Given the description of an element on the screen output the (x, y) to click on. 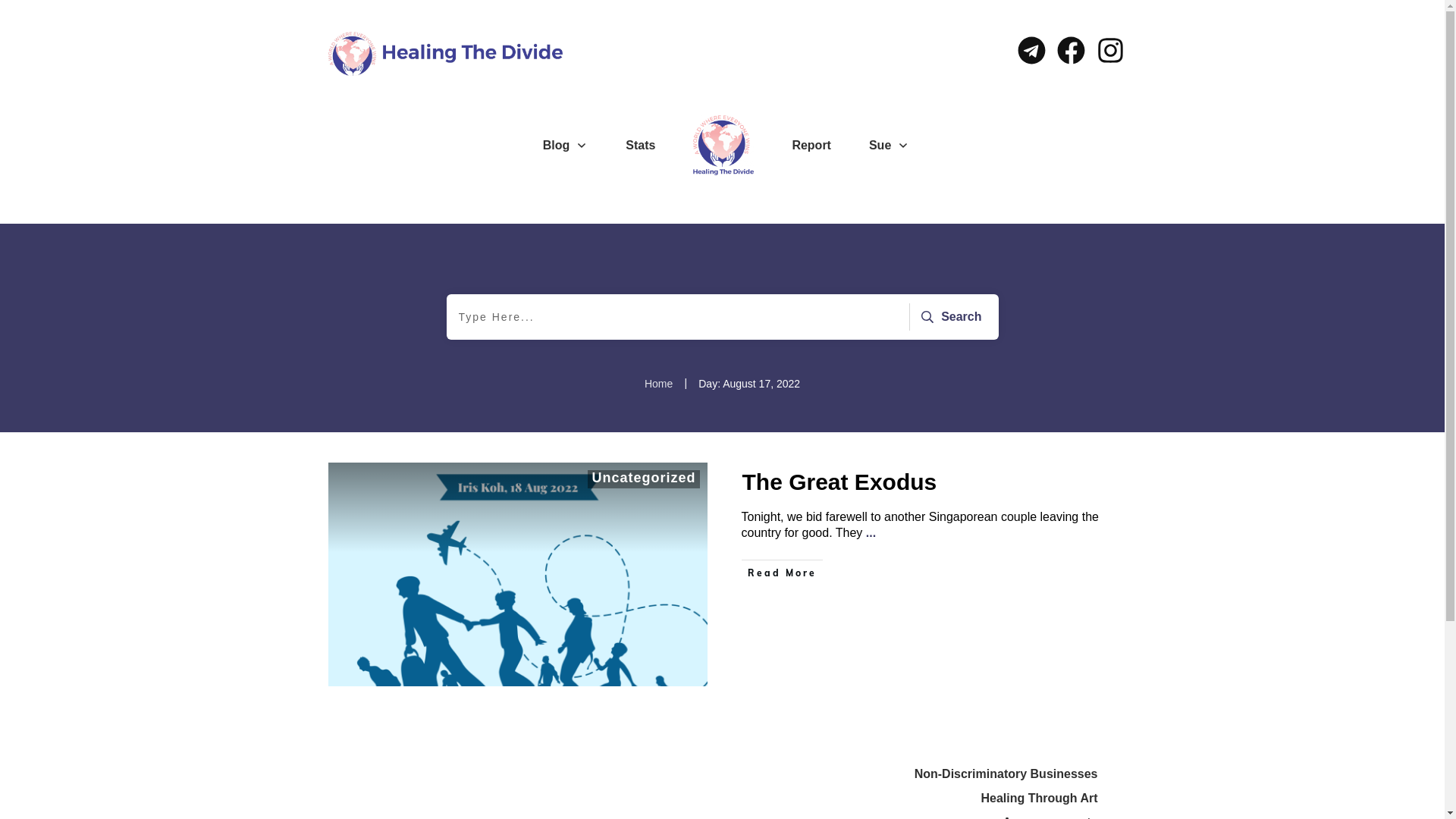
Read More Element type: text (781, 572)
Home Element type: text (658, 383)
Uncategorized Element type: text (643, 477)
Stats Element type: text (640, 145)
The Great Exodus Element type: text (838, 481)
Search Element type: text (948, 316)
Report Element type: text (811, 145)
Sue Element type: text (889, 145)
Healing Through Art Element type: text (1038, 798)
... Element type: text (870, 532)
Blog Element type: text (565, 145)
Non-Discriminatory Businesses Element type: text (1006, 774)
